Given the description of an element on the screen output the (x, y) to click on. 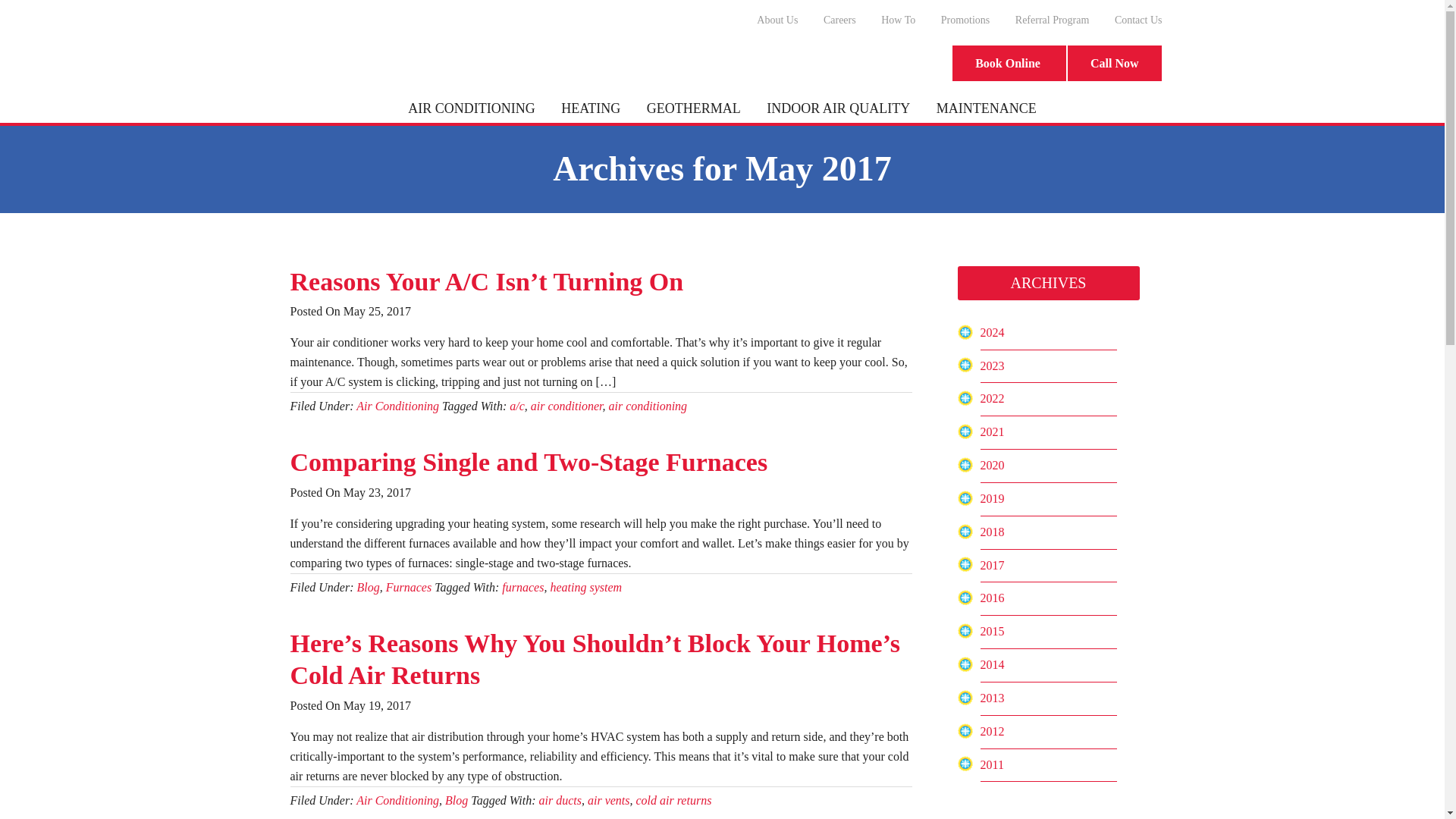
air conditioner (566, 405)
How To (897, 20)
Referral Program (1052, 20)
Blog (367, 586)
Blog (456, 799)
Air Conditioning (397, 799)
Careers (839, 20)
heating system (585, 586)
INDOOR AIR QUALITY (838, 108)
MAINTENANCE (986, 108)
